Given the description of an element on the screen output the (x, y) to click on. 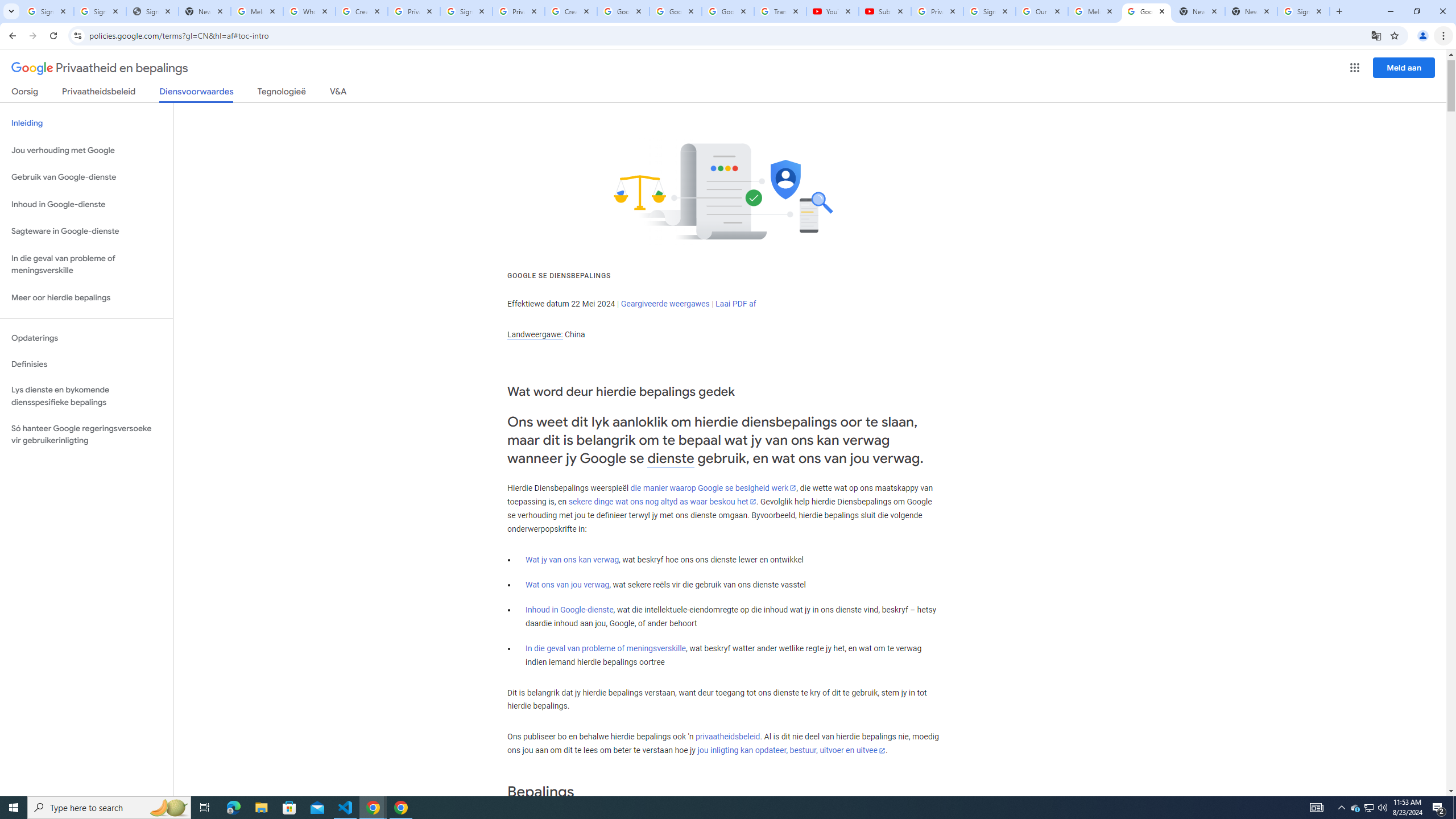
Record (775, 71)
Select Recipients (240, 92)
Finish & Merge (872, 92)
Check for Errors... (763, 112)
Start Mail Merge (186, 92)
